Given the description of an element on the screen output the (x, y) to click on. 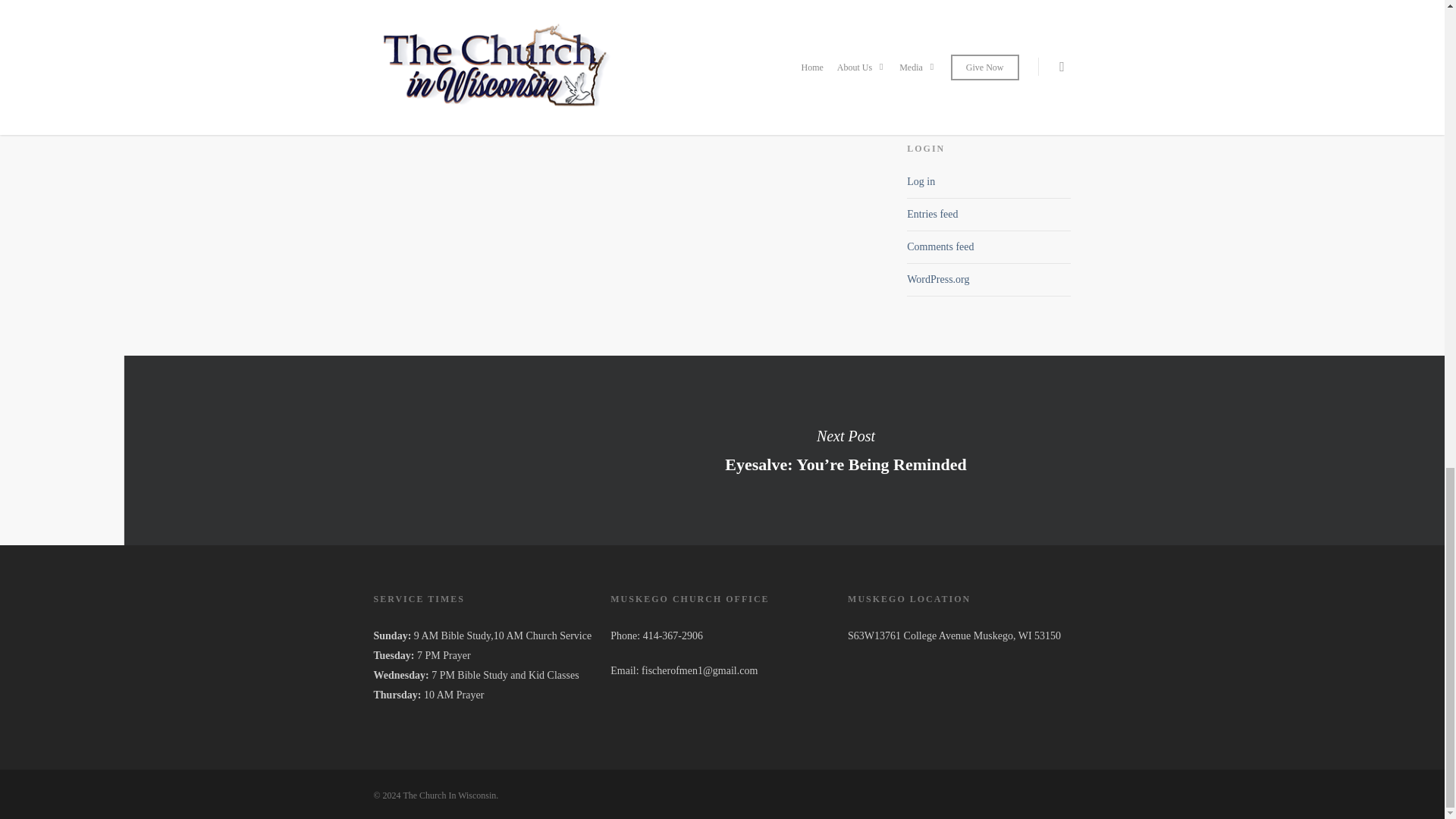
WordPress.org (938, 279)
Log in (920, 181)
Comments feed (940, 246)
Entries feed (932, 214)
